Given the description of an element on the screen output the (x, y) to click on. 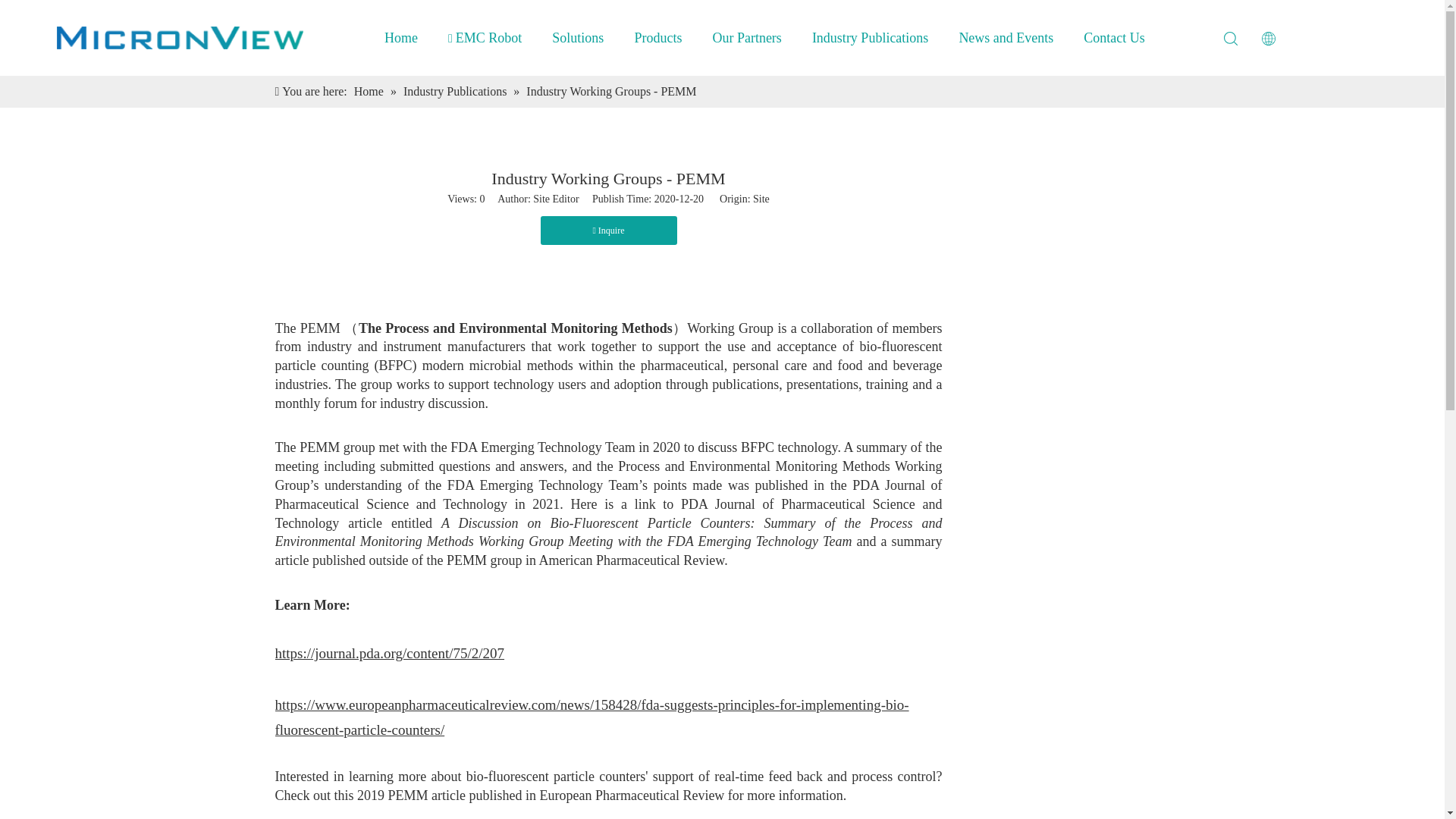
EMC Robot (484, 38)
Solutions (577, 38)
Products (657, 38)
